Given the description of an element on the screen output the (x, y) to click on. 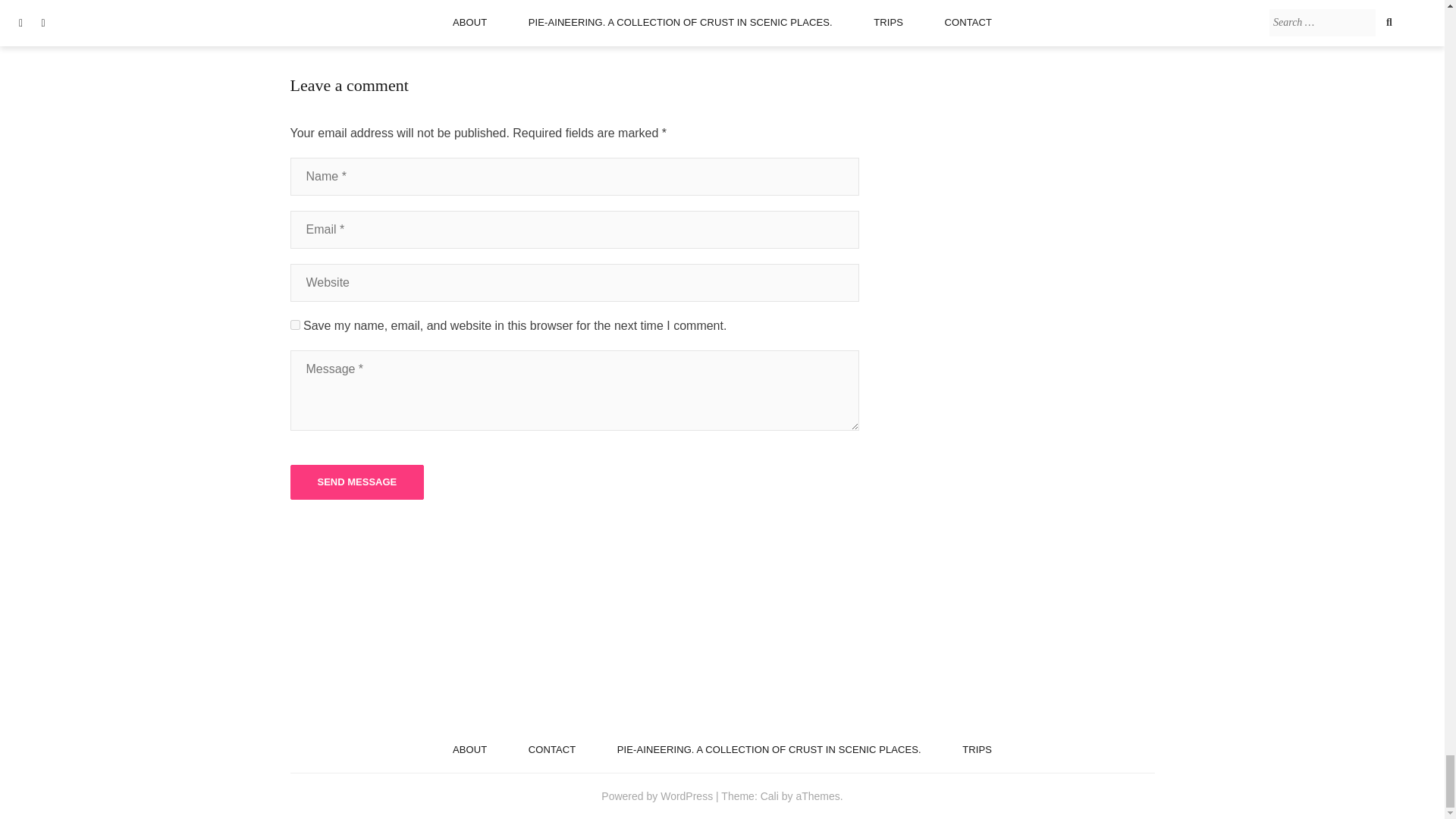
Send Message (356, 482)
yes (294, 325)
